Given the description of an element on the screen output the (x, y) to click on. 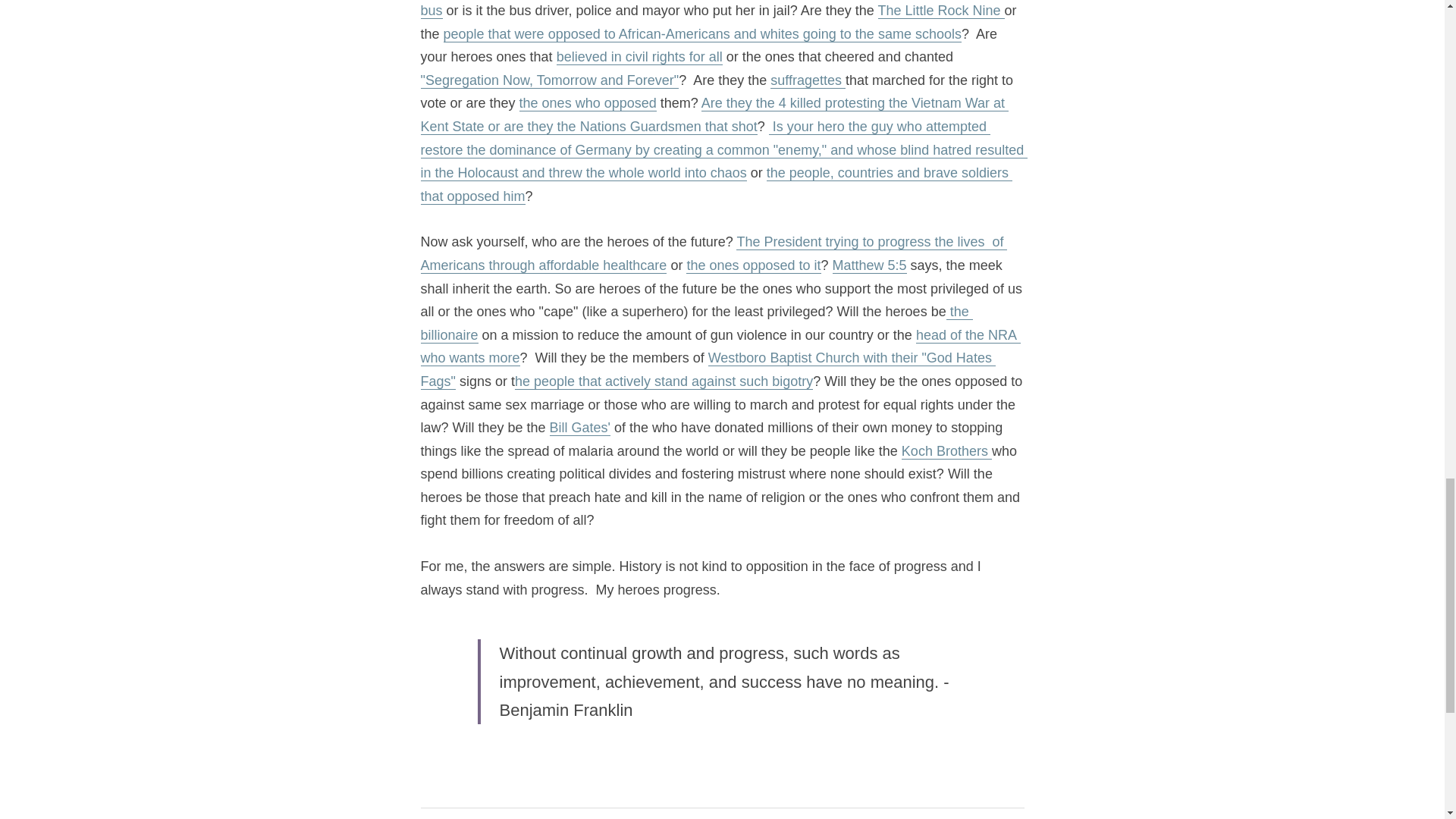
the ones who opposed (587, 103)
he people that actively stand against such bigotry (663, 381)
Koch Brothers  (946, 451)
"Segregation Now, Tomorrow and Forever" (549, 80)
head of the NRA who wants more (720, 346)
The Little Rock Nine  (940, 10)
Bill Gates' (580, 427)
the people, countries and brave soldiers that opposed him (715, 184)
 the billionaire (696, 323)
Westboro Baptist Church with their "God Hates Fags" (707, 369)
